Given the description of an element on the screen output the (x, y) to click on. 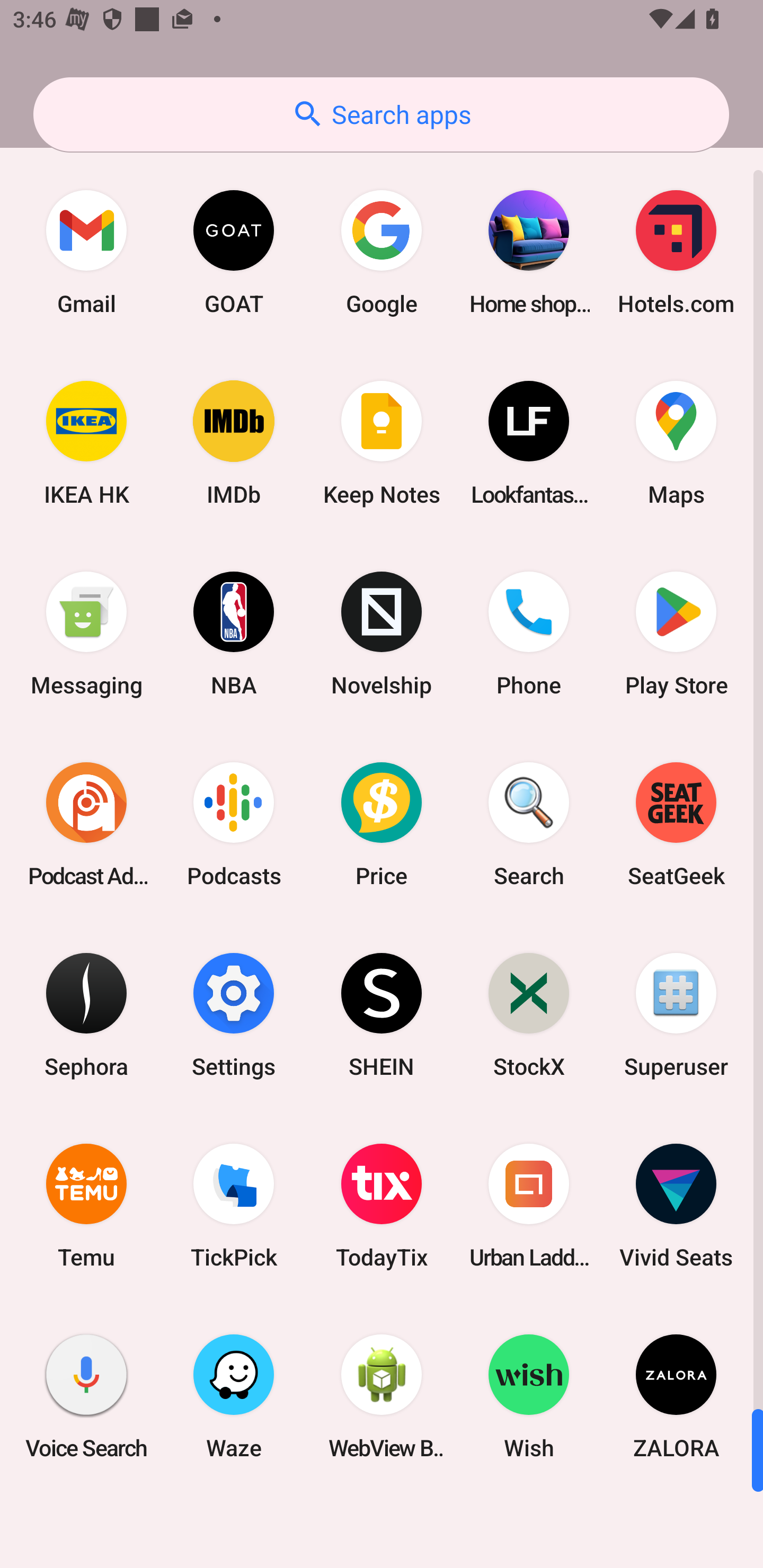
  Search apps (381, 114)
Gmail (86, 252)
GOAT (233, 252)
Google (381, 252)
Home shopping (528, 252)
Hotels.com (676, 252)
IKEA HK (86, 442)
IMDb (233, 442)
Keep Notes (381, 442)
Lookfantastic (528, 442)
Maps (676, 442)
Messaging (86, 633)
NBA (233, 633)
Novelship (381, 633)
Phone (528, 633)
Play Store (676, 633)
Podcast Addict (86, 823)
Podcasts (233, 823)
Price (381, 823)
Search (528, 823)
SeatGeek (676, 823)
Sephora (86, 1014)
Settings (233, 1014)
SHEIN (381, 1014)
StockX (528, 1014)
Superuser (676, 1014)
Temu (86, 1205)
TickPick (233, 1205)
TodayTix (381, 1205)
Urban Ladder (528, 1205)
Vivid Seats (676, 1205)
Voice Search (86, 1396)
Waze (233, 1396)
WebView Browser Tester (381, 1396)
Wish (528, 1396)
ZALORA (676, 1396)
